Given the description of an element on the screen output the (x, y) to click on. 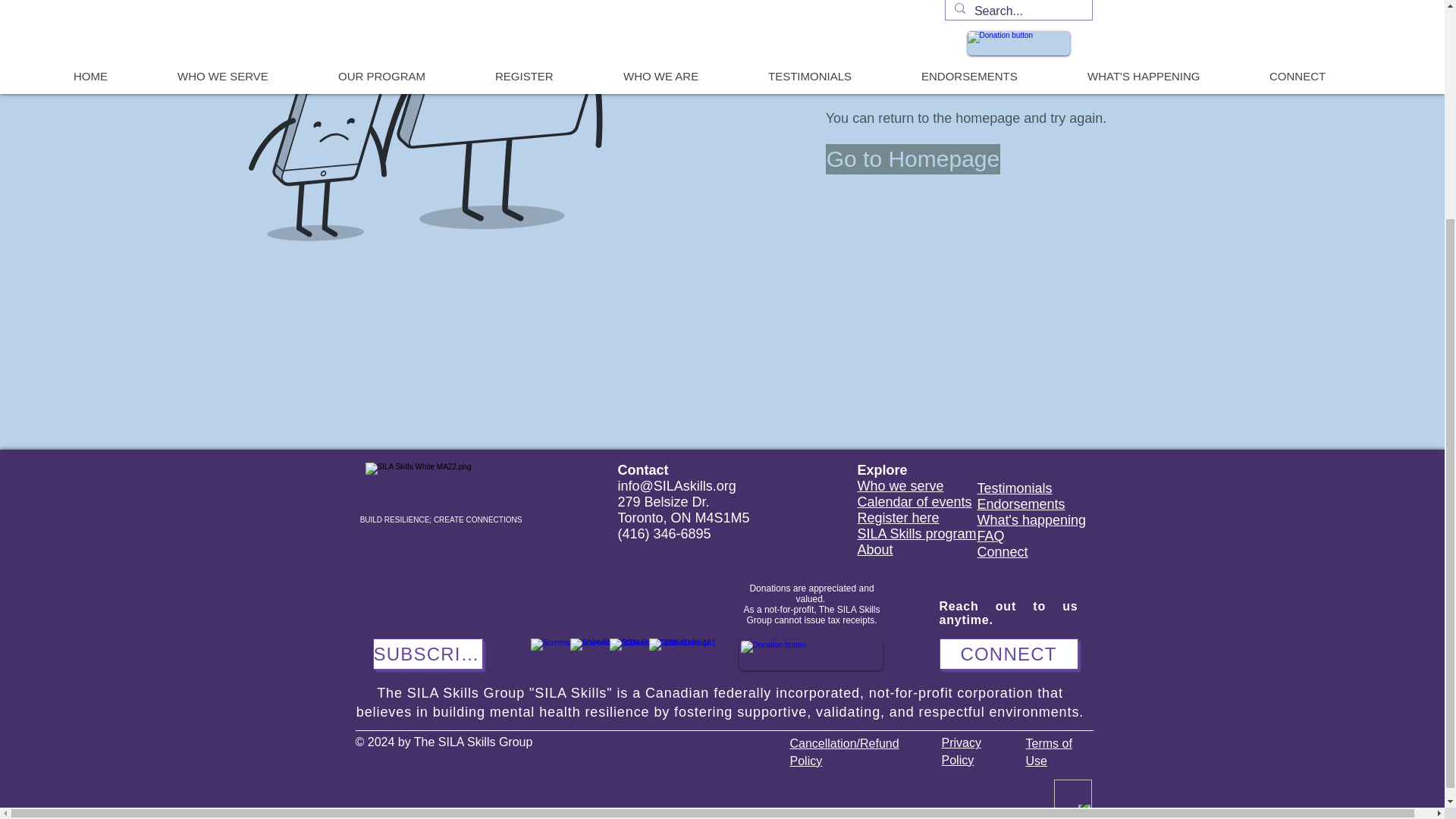
About (874, 549)
Endorsements (1020, 503)
SUBSCRIBE (427, 653)
Calendar of events (914, 501)
Testimonials (1013, 488)
What's happening (1031, 519)
SILA Skills program (916, 533)
Who we serve (900, 485)
Register here (898, 517)
FAQ (990, 535)
